Given the description of an element on the screen output the (x, y) to click on. 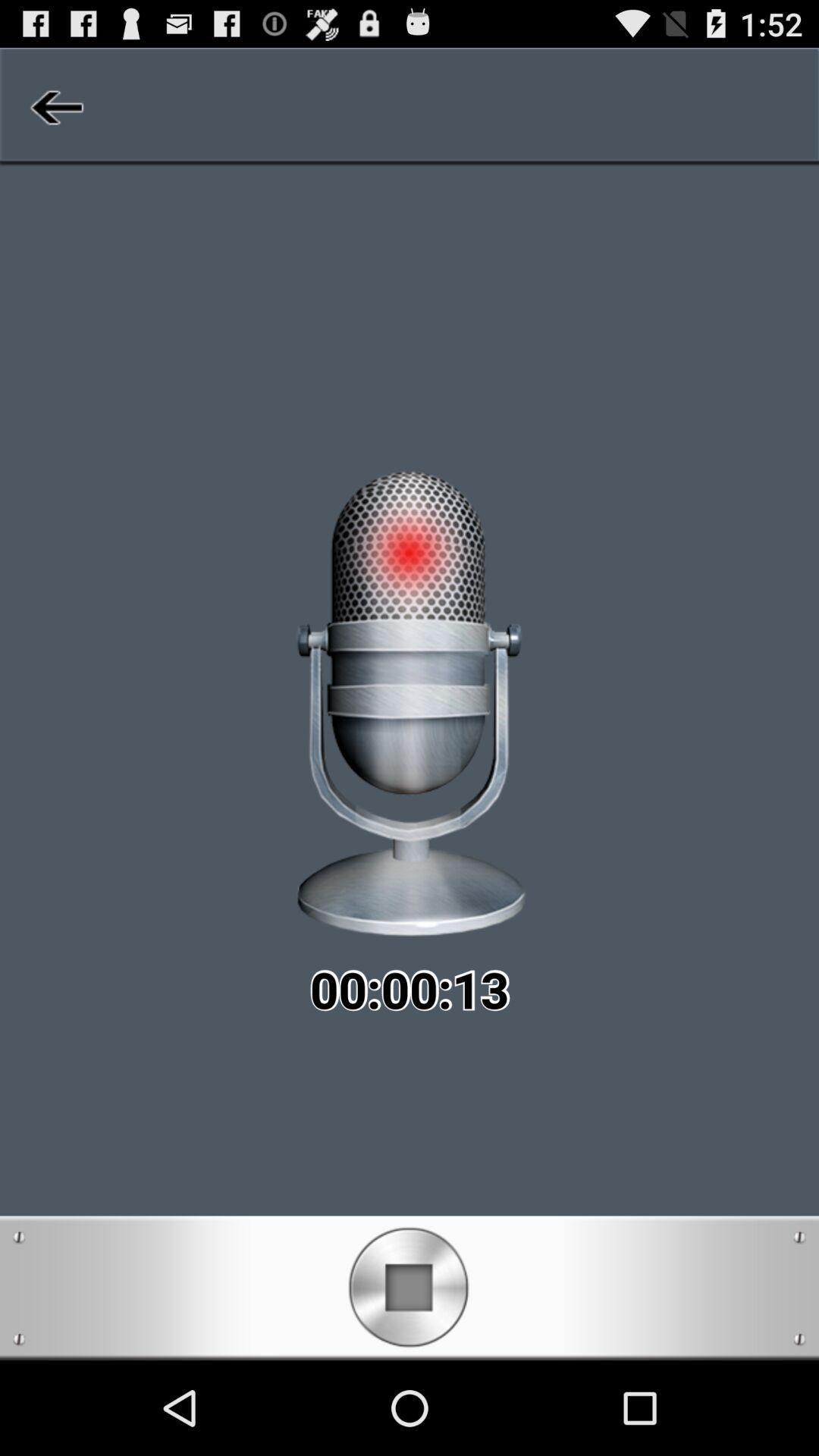
go back (54, 107)
